Given the description of an element on the screen output the (x, y) to click on. 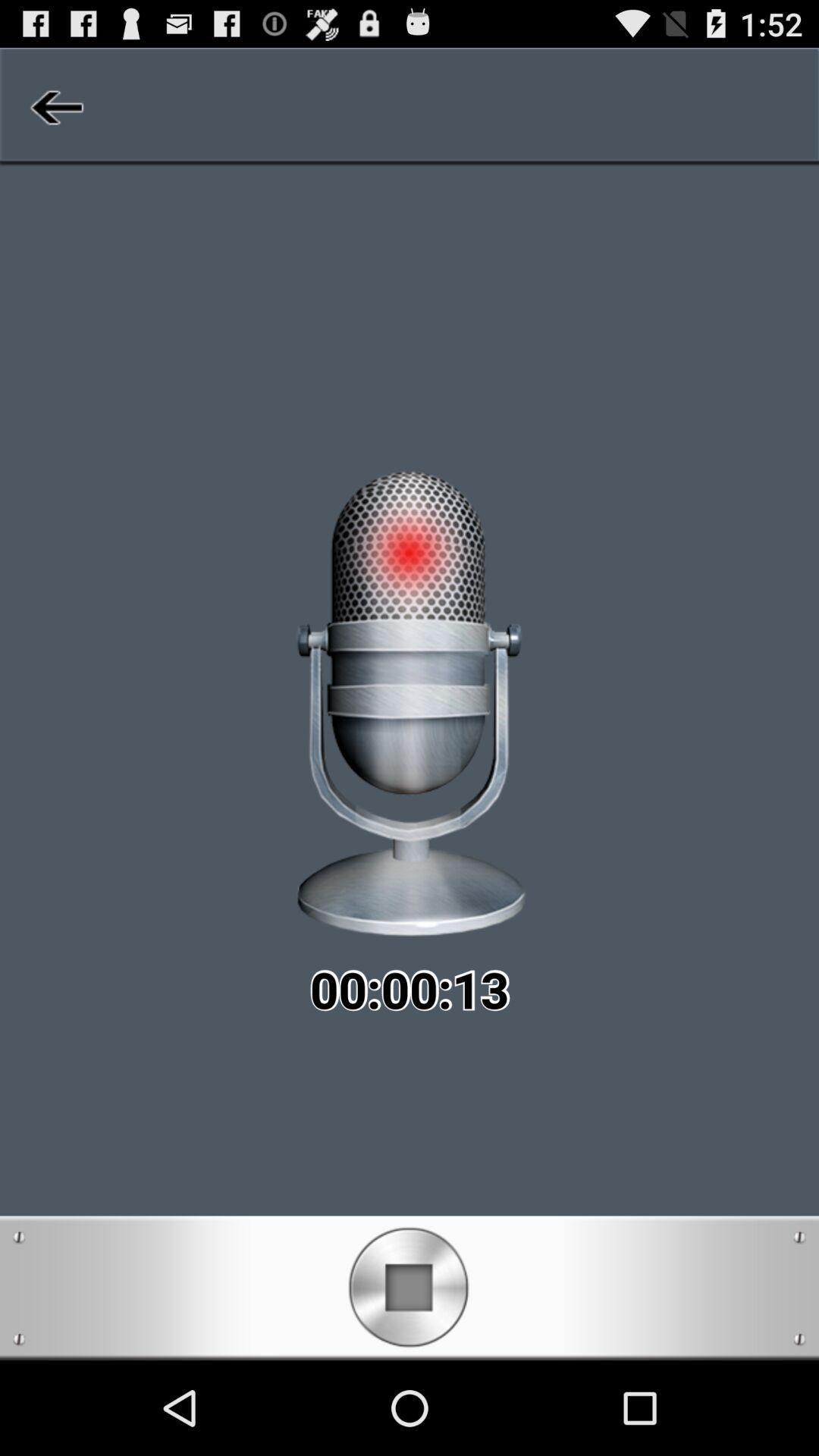
go back (54, 107)
